Given the description of an element on the screen output the (x, y) to click on. 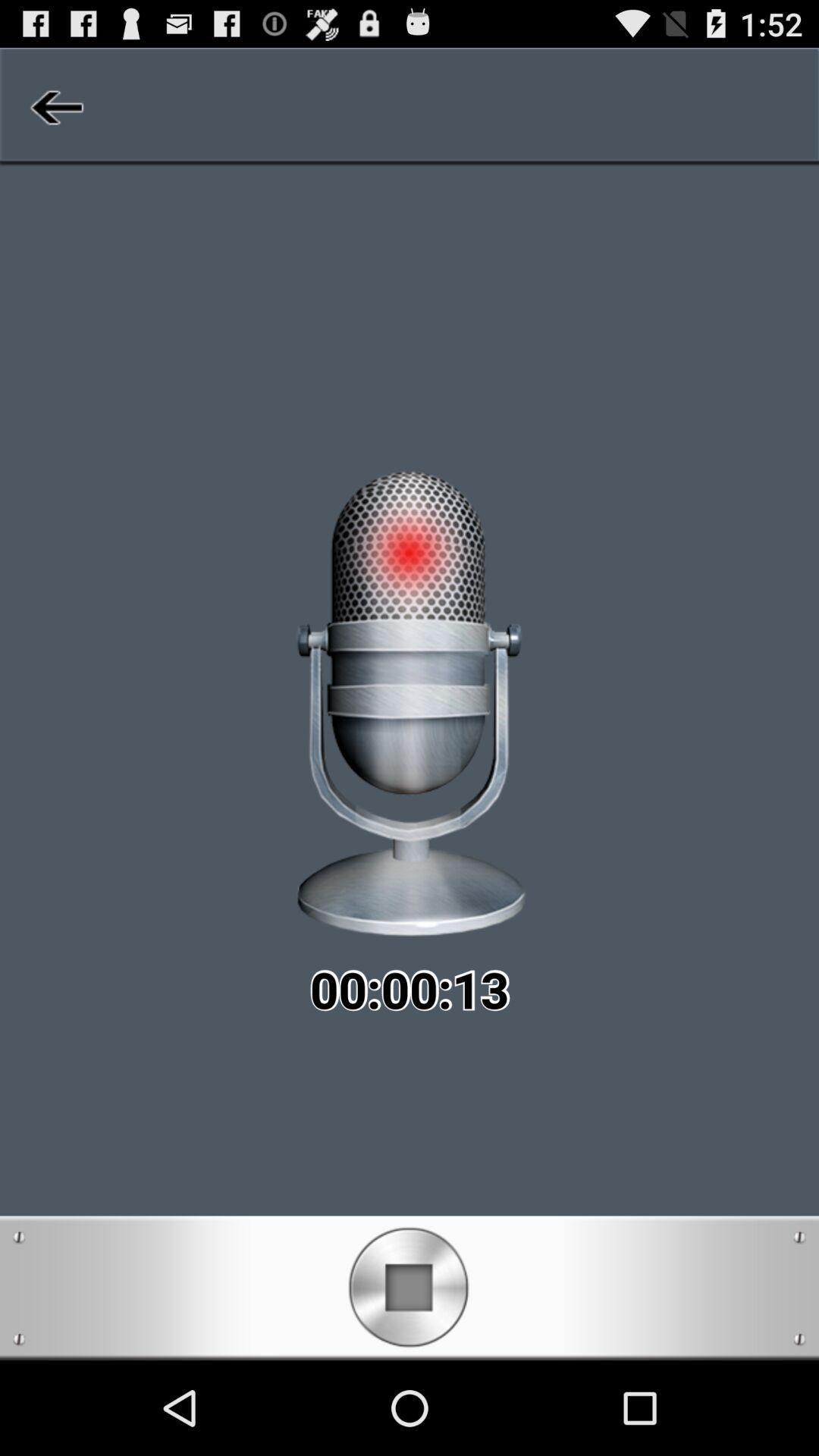
go back (54, 107)
